Given the description of an element on the screen output the (x, y) to click on. 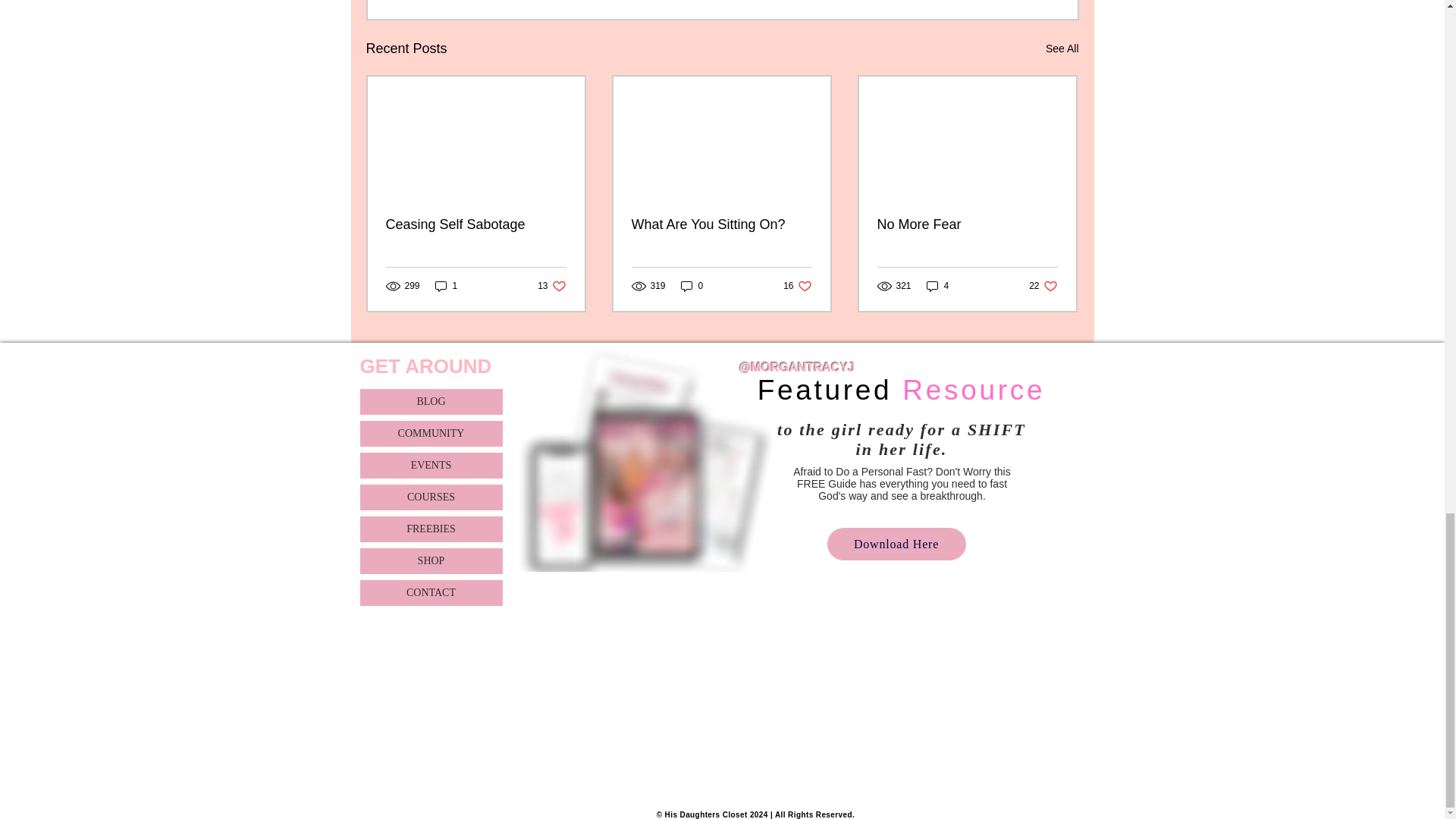
0 (691, 286)
See All (796, 286)
What Are You Sitting On? (1061, 48)
1 (720, 224)
Ceasing Self Sabotage (446, 286)
